Given the description of an element on the screen output the (x, y) to click on. 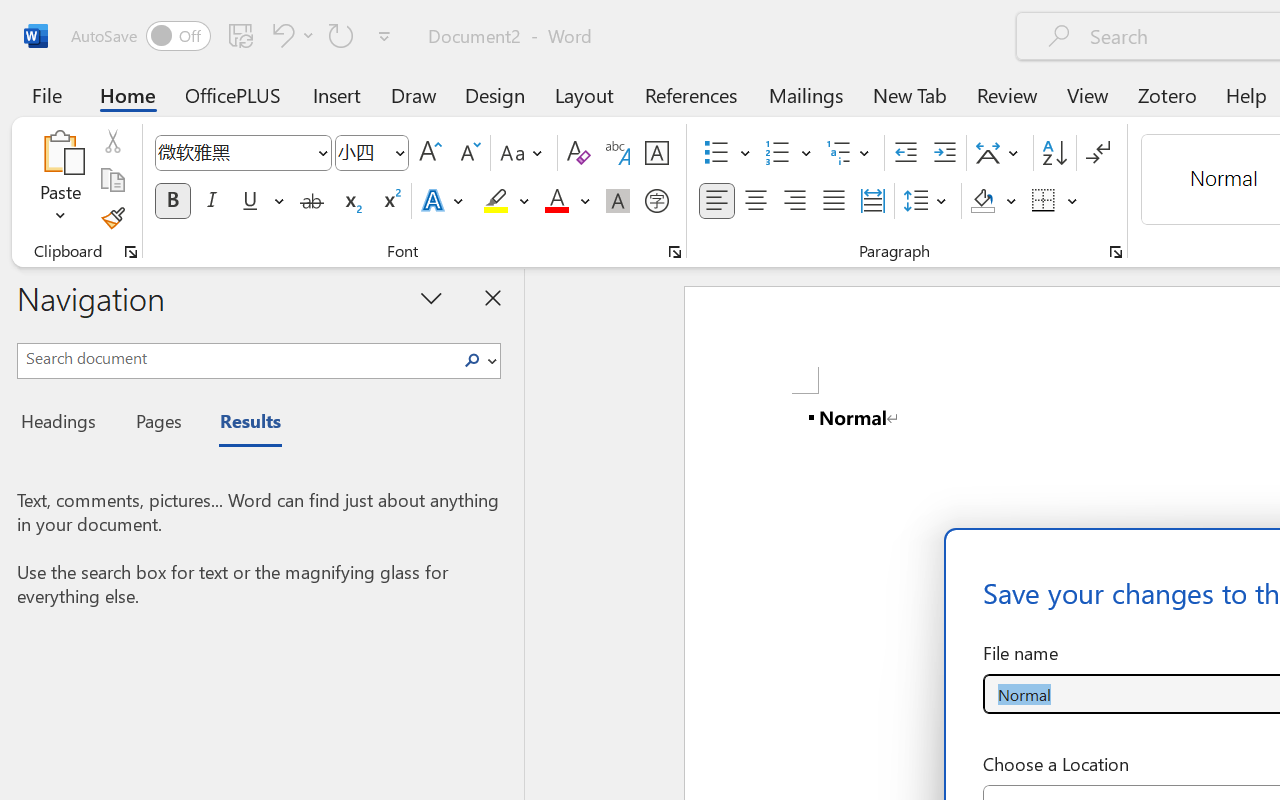
File Tab (46, 94)
Cut (112, 141)
Pages (156, 424)
Shrink Font (468, 153)
Zotero (1166, 94)
Search (478, 360)
Font... (675, 252)
Line and Paragraph Spacing (927, 201)
Decrease Indent (906, 153)
AutoSave (140, 35)
Borders (1055, 201)
Grow Font (430, 153)
Borders (1044, 201)
Font (242, 153)
